Given the description of an element on the screen output the (x, y) to click on. 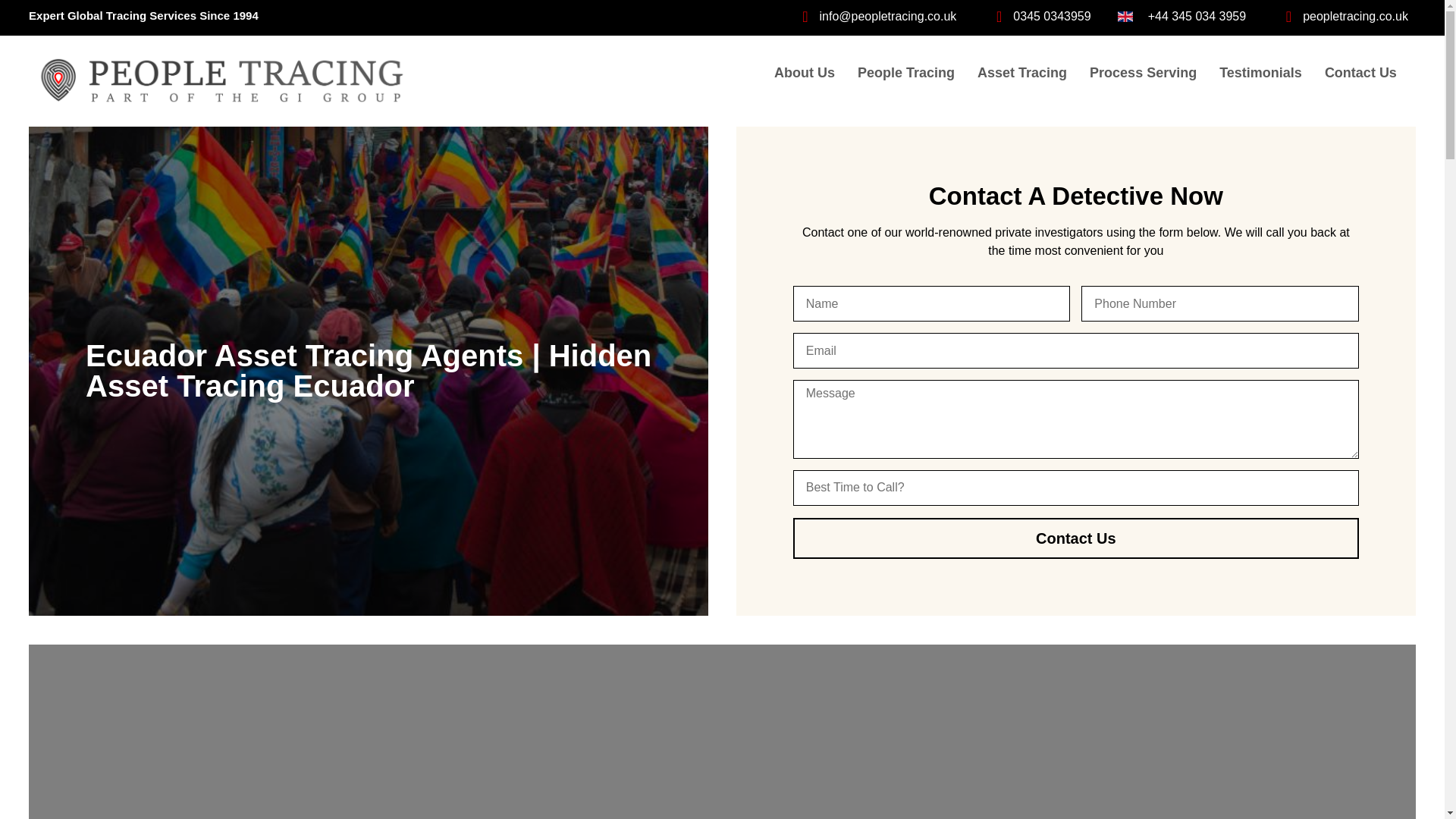
Process Serving (1143, 73)
People Tracing (905, 73)
Asset Tracing (1022, 73)
Contact Us (1075, 537)
Testimonials (1260, 73)
Contact Us (1360, 73)
About Us (803, 73)
